Given the description of an element on the screen output the (x, y) to click on. 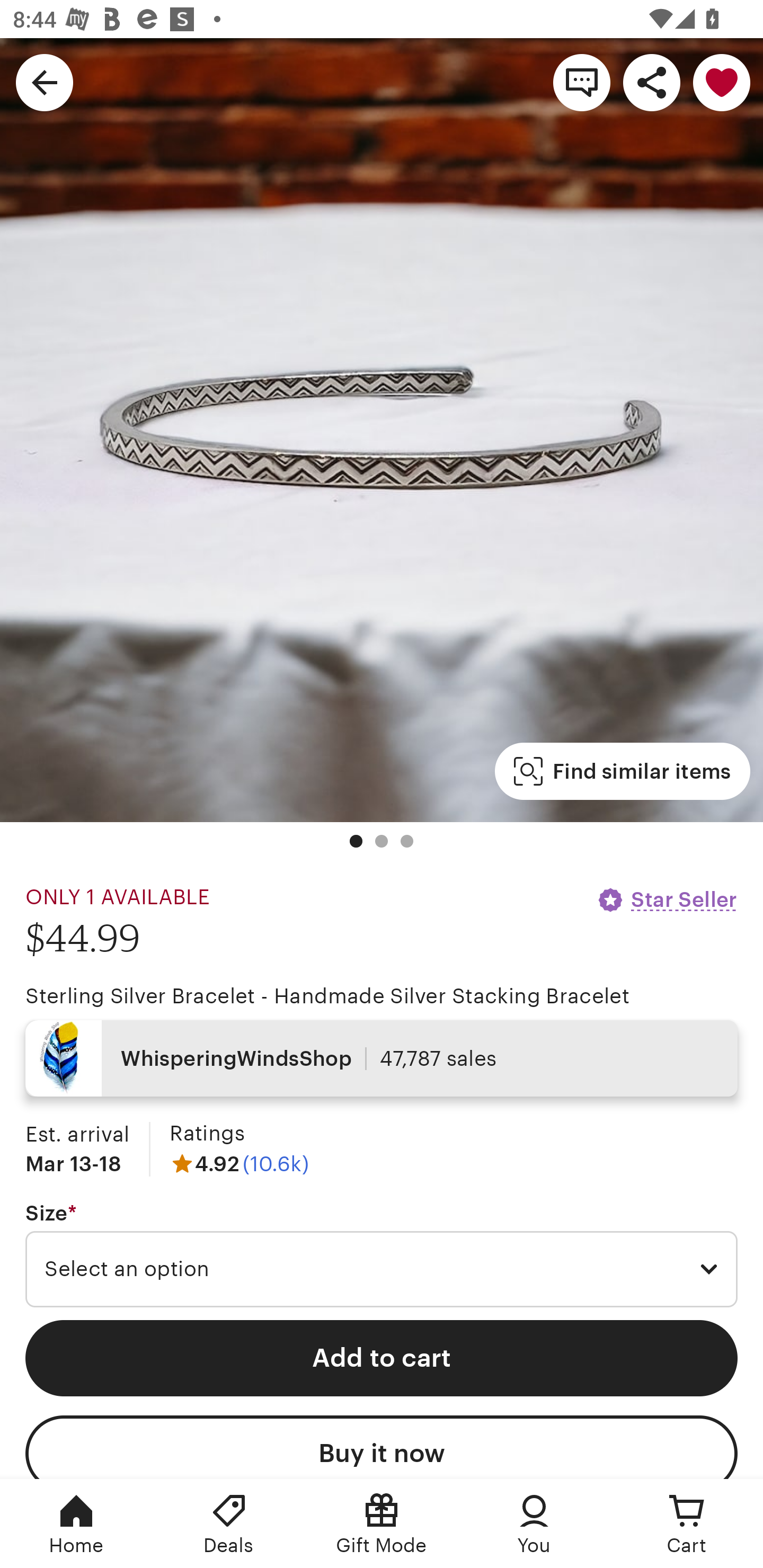
Navigate up (44, 81)
Contact shop (581, 81)
Share (651, 81)
Find similar items (622, 771)
Star Seller (666, 899)
WhisperingWindsShop 47,787 sales (381, 1058)
Ratings (206, 1133)
4.92 (10.6k) (239, 1163)
Size * Required Select an option (381, 1254)
Select an option (381, 1268)
Add to cart (381, 1358)
Buy it now (381, 1446)
Deals (228, 1523)
Gift Mode (381, 1523)
You (533, 1523)
Cart (686, 1523)
